Given the description of an element on the screen output the (x, y) to click on. 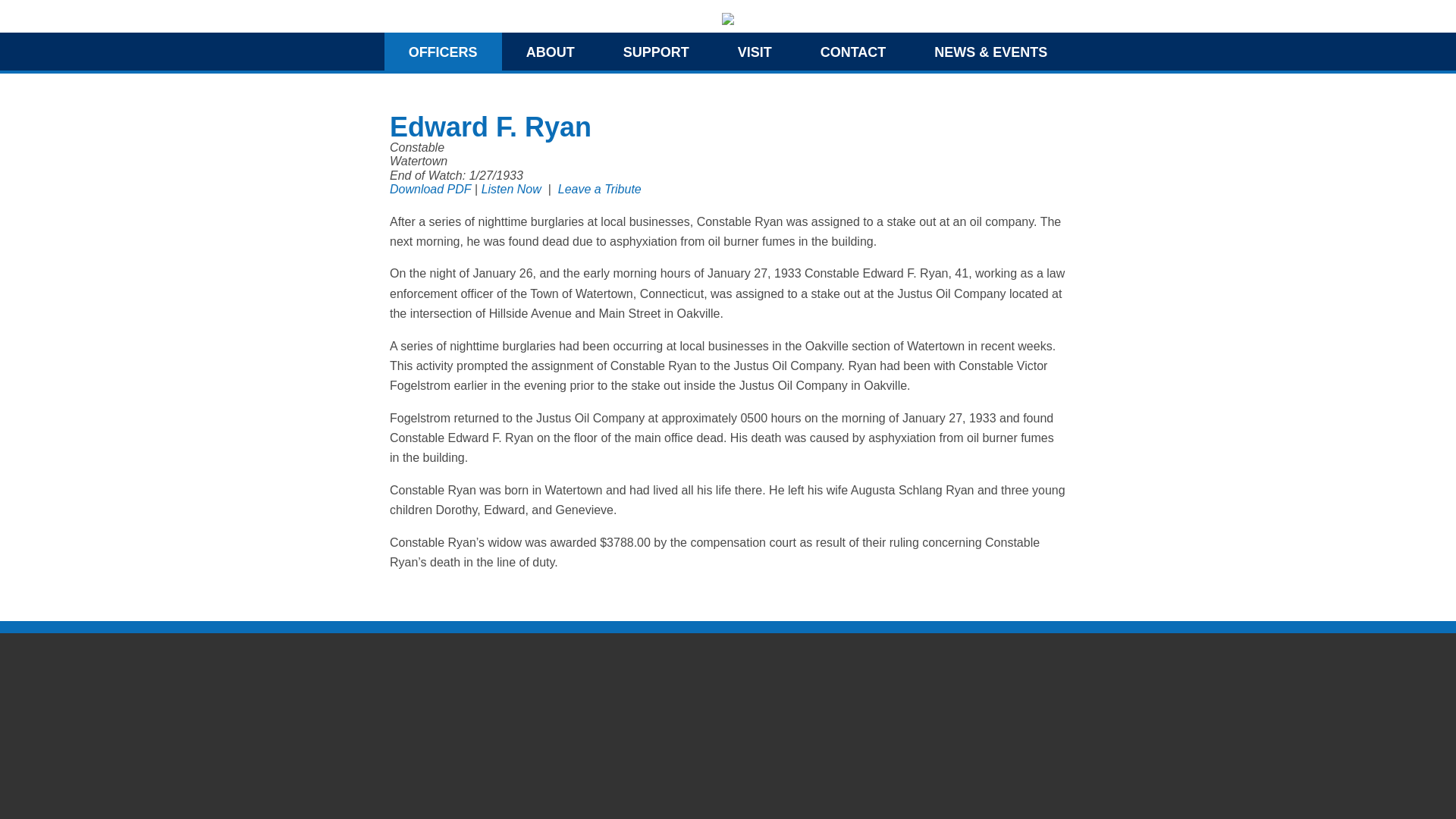
Download PDF (430, 188)
Leave a Tribute (599, 188)
SUPPORT (655, 51)
VISIT (754, 51)
ABOUT (550, 51)
Listen Now (511, 188)
CONTACT (853, 51)
OFFICERS (443, 51)
